Given the description of an element on the screen output the (x, y) to click on. 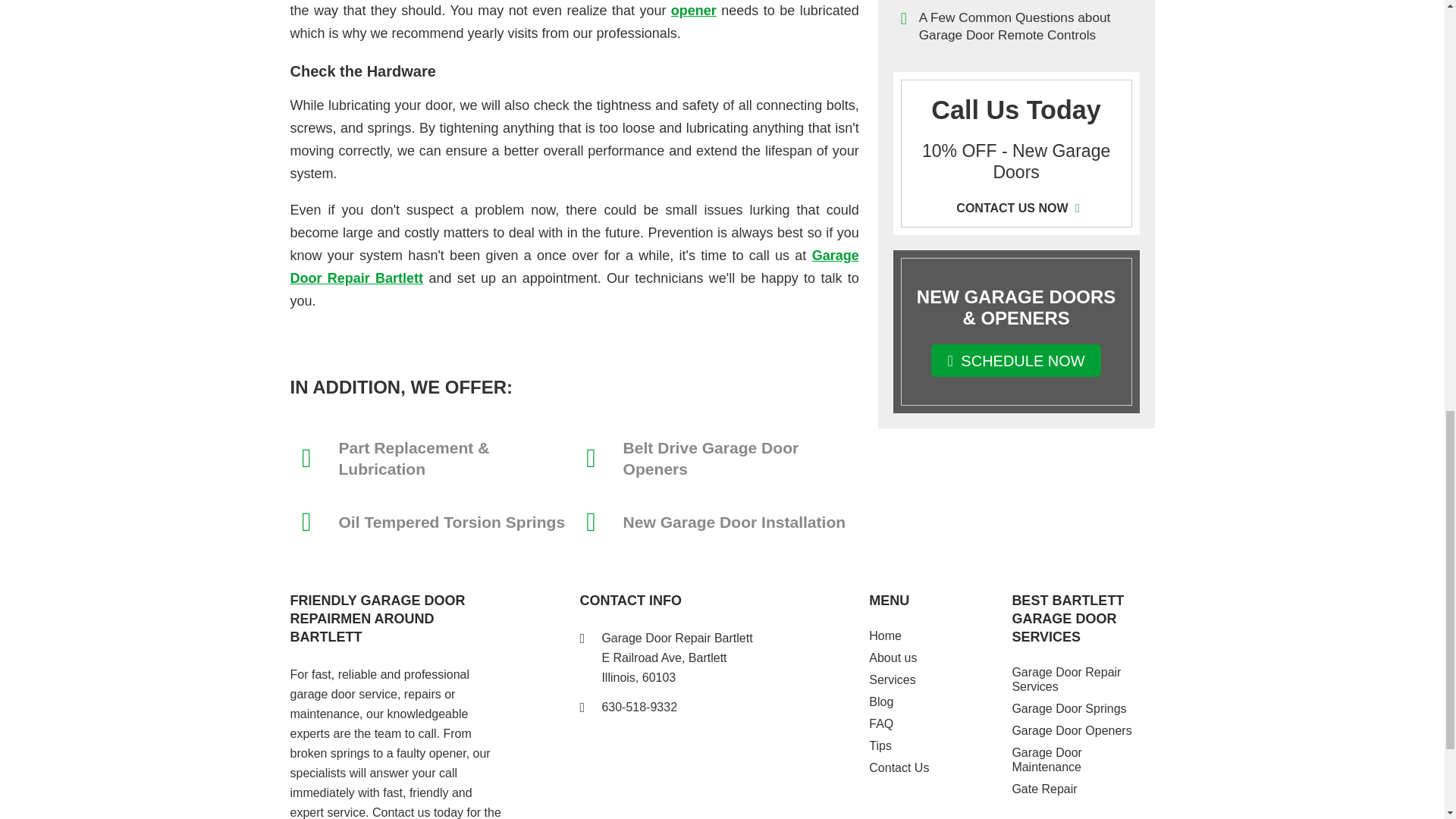
Garage Door Repair Bartlett (574, 266)
opener (693, 10)
Garage door opener (693, 10)
SCHEDULE NOW (1015, 359)
A Few Common Questions about Garage Door Remote Controls (1016, 26)
Garage Door Repair Bartlett (574, 266)
CONTACT US NOW (1015, 207)
